Given the description of an element on the screen output the (x, y) to click on. 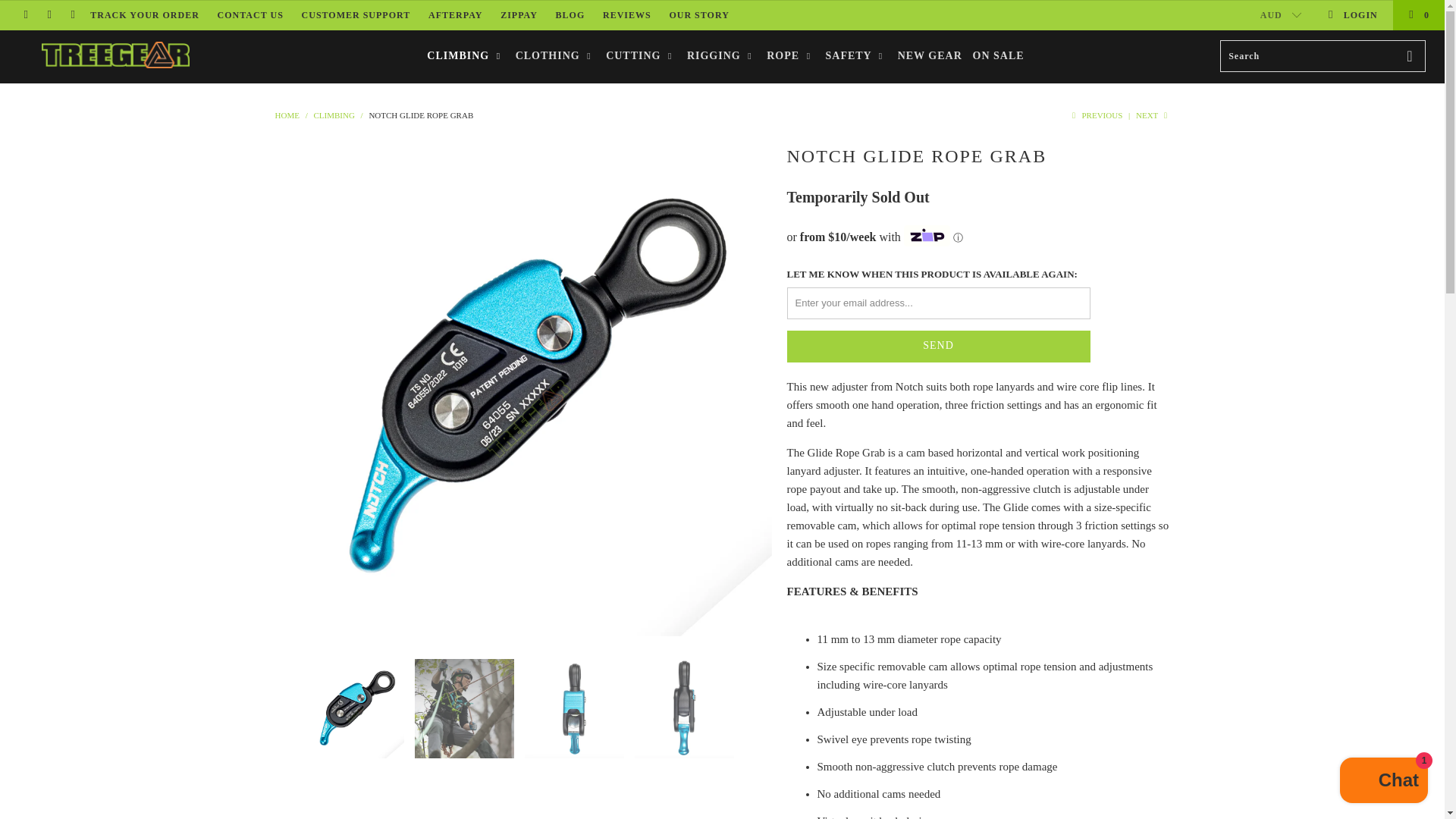
Treegear on Instagram (71, 14)
Treegear (115, 56)
Climbing (333, 114)
Treegear (286, 114)
Treegear on Facebook (48, 14)
My Account  (1351, 15)
Treegear on Twitter (25, 14)
Previous (1095, 114)
Send (938, 346)
Next (1152, 114)
